Given the description of an element on the screen output the (x, y) to click on. 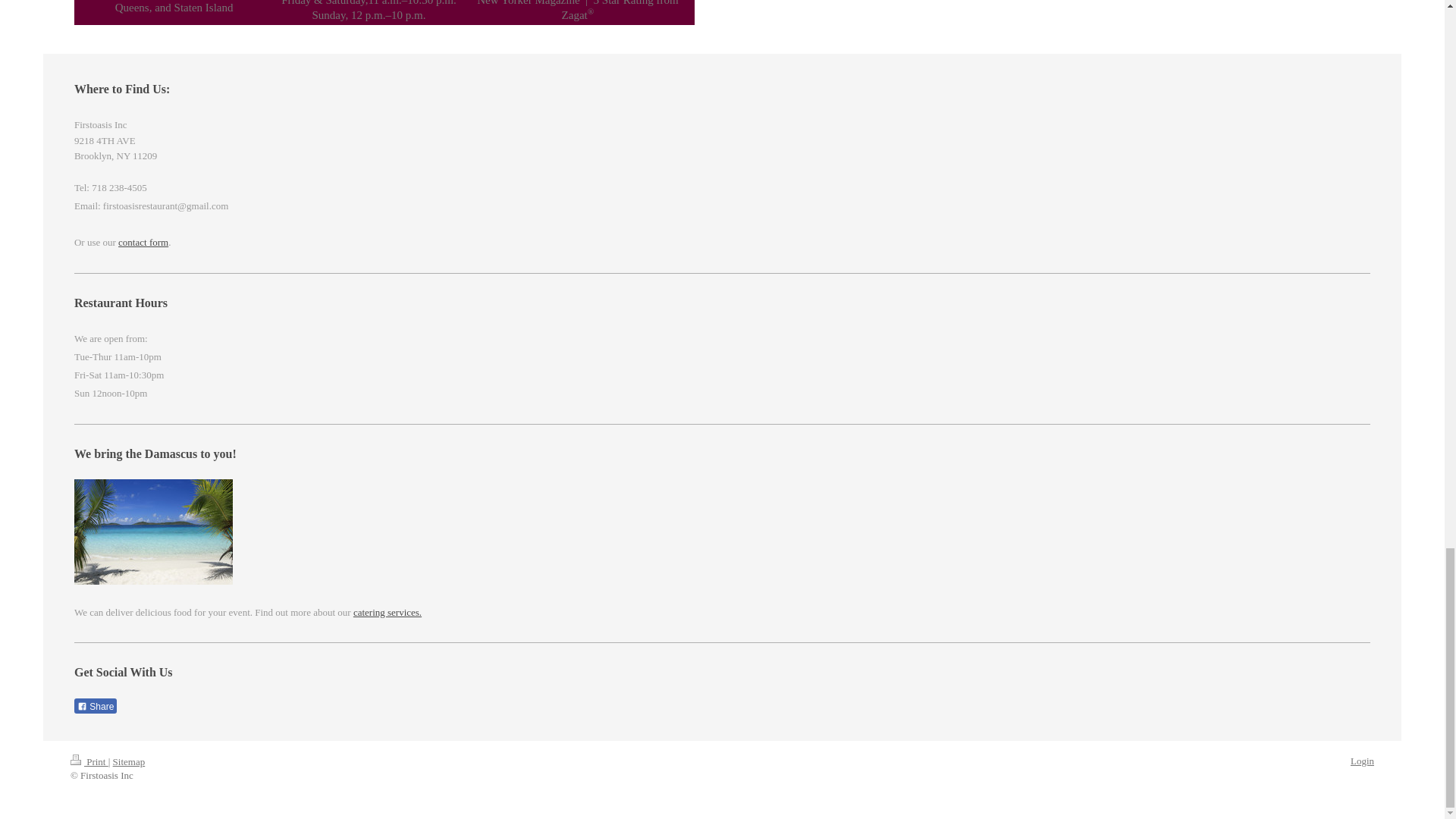
Login (1362, 760)
Sitemap (129, 761)
contact form (142, 242)
Print (88, 761)
Share (95, 705)
catering services. (387, 612)
